Given the description of an element on the screen output the (x, y) to click on. 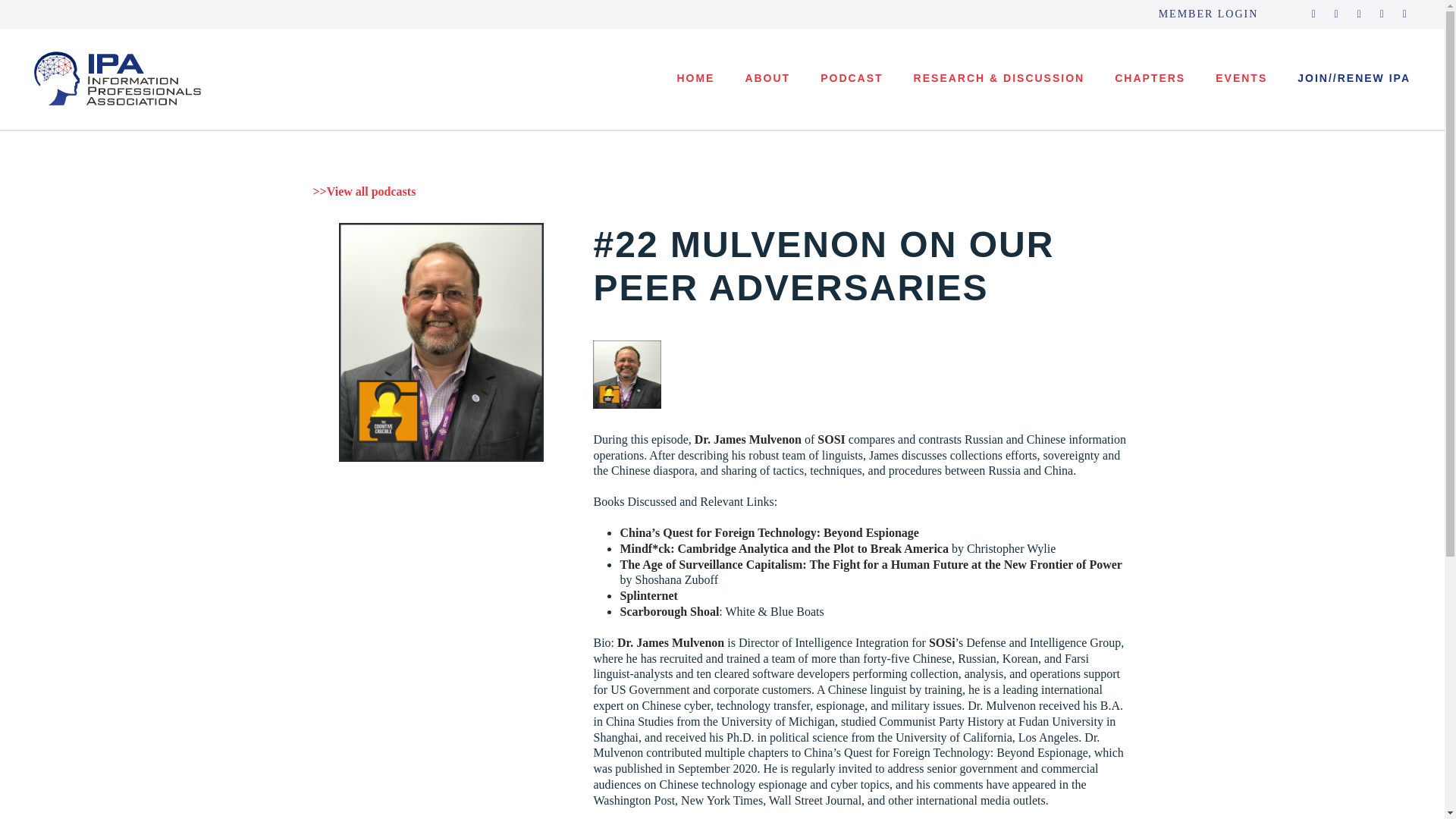
logo (116, 78)
MEMBER LOGIN (1208, 13)
ABOUT (767, 91)
